Given the description of an element on the screen output the (x, y) to click on. 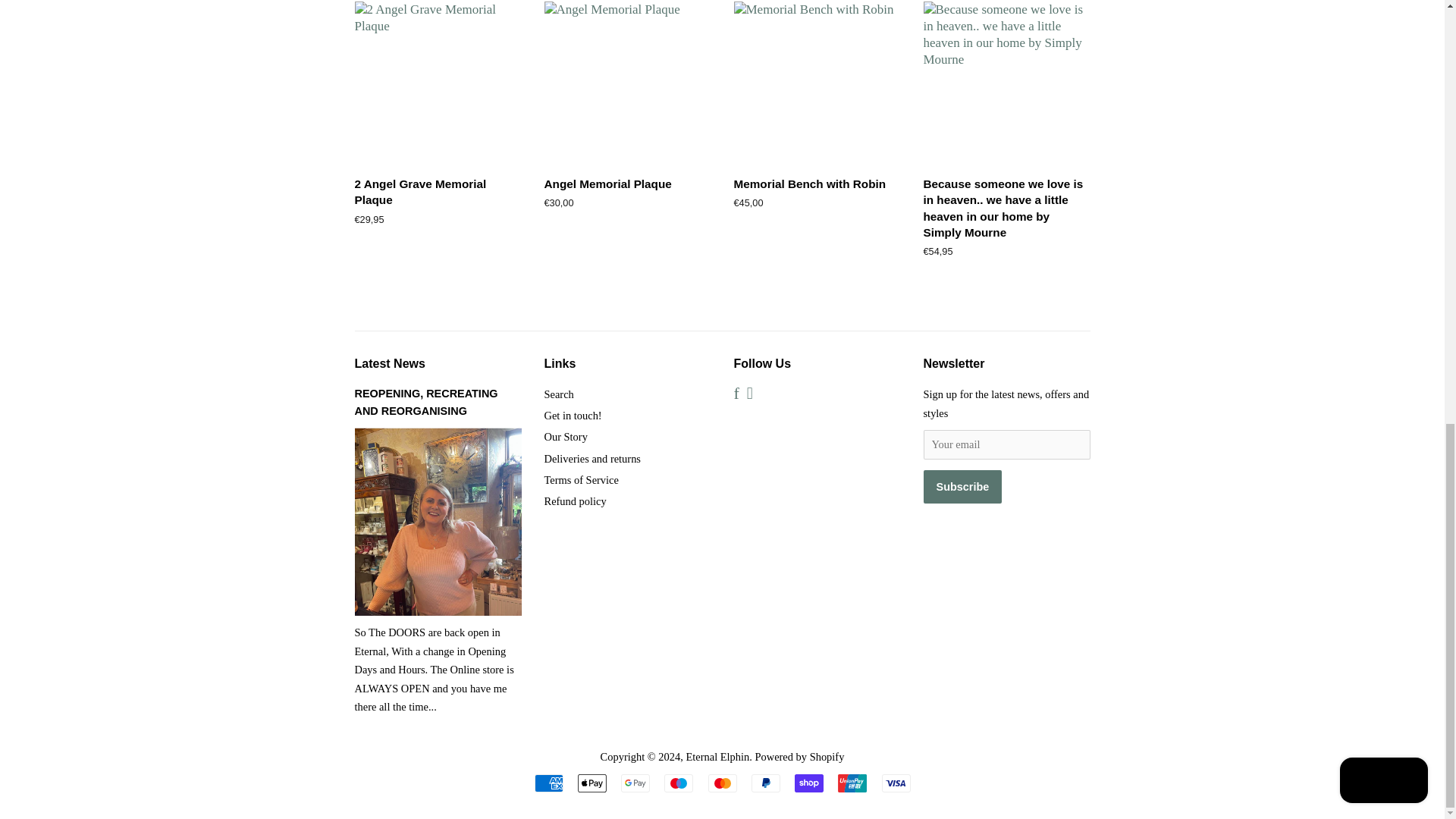
PayPal (765, 782)
Mastercard (721, 782)
REOPENING, RECREATING AND REORGANISING (426, 401)
Subscribe (963, 486)
Google Pay (635, 782)
Our Story (566, 436)
Shop Pay (809, 782)
Visa (895, 782)
American Express (548, 782)
Apple Pay (592, 782)
